Given the description of an element on the screen output the (x, y) to click on. 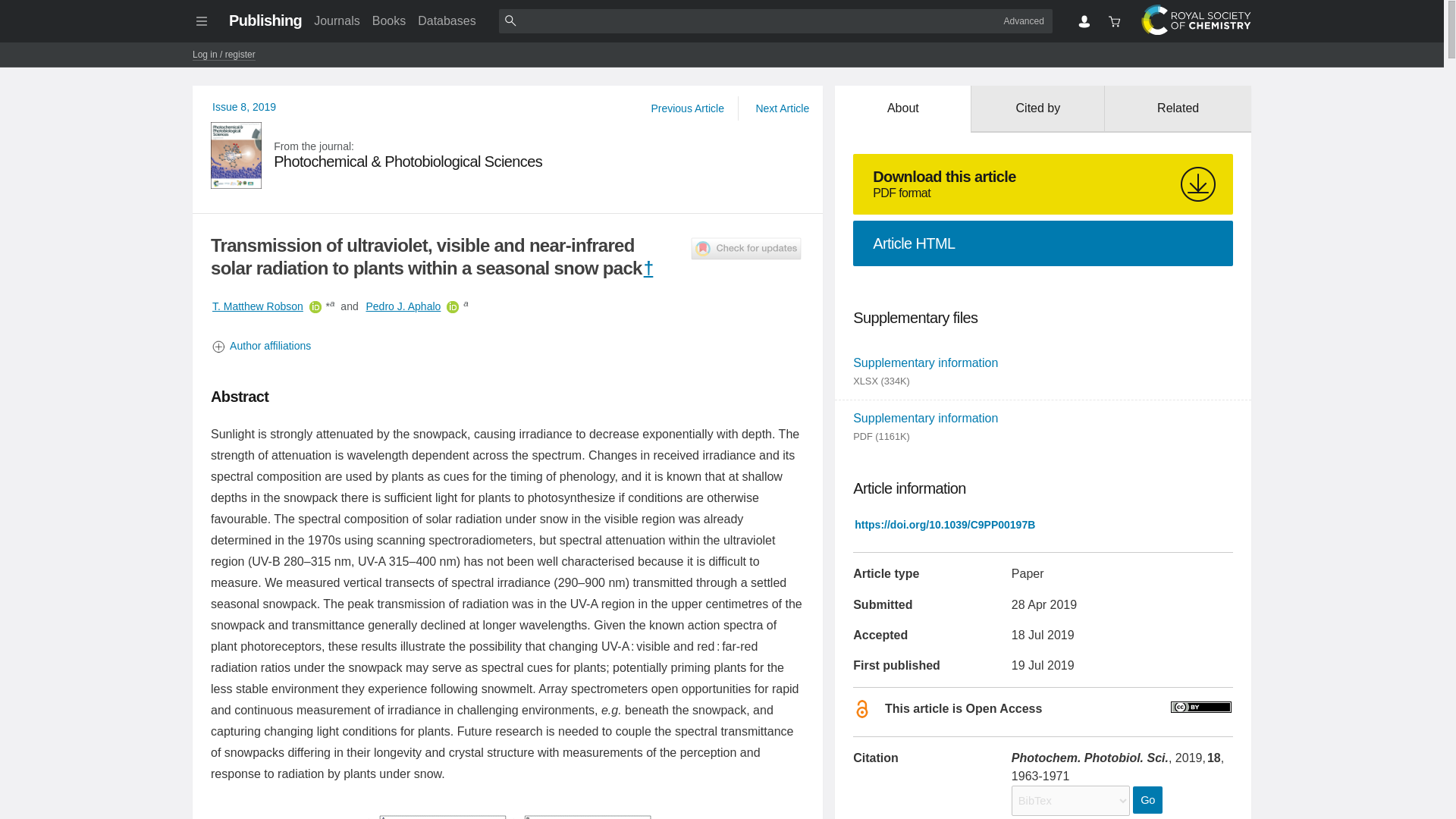
Issue 8, 2019 (244, 106)
Advanced (1023, 20)
Journals (336, 20)
Next Article (781, 107)
Publishing home page (264, 20)
Databases (446, 20)
T. Matthew Robson (257, 305)
Go (1146, 800)
Issue 8, 2019 (244, 106)
Previous Article (687, 107)
Publishing (264, 20)
Pedro J. Aphalo (403, 305)
Author affiliations (508, 345)
Books (389, 20)
